Given the description of an element on the screen output the (x, y) to click on. 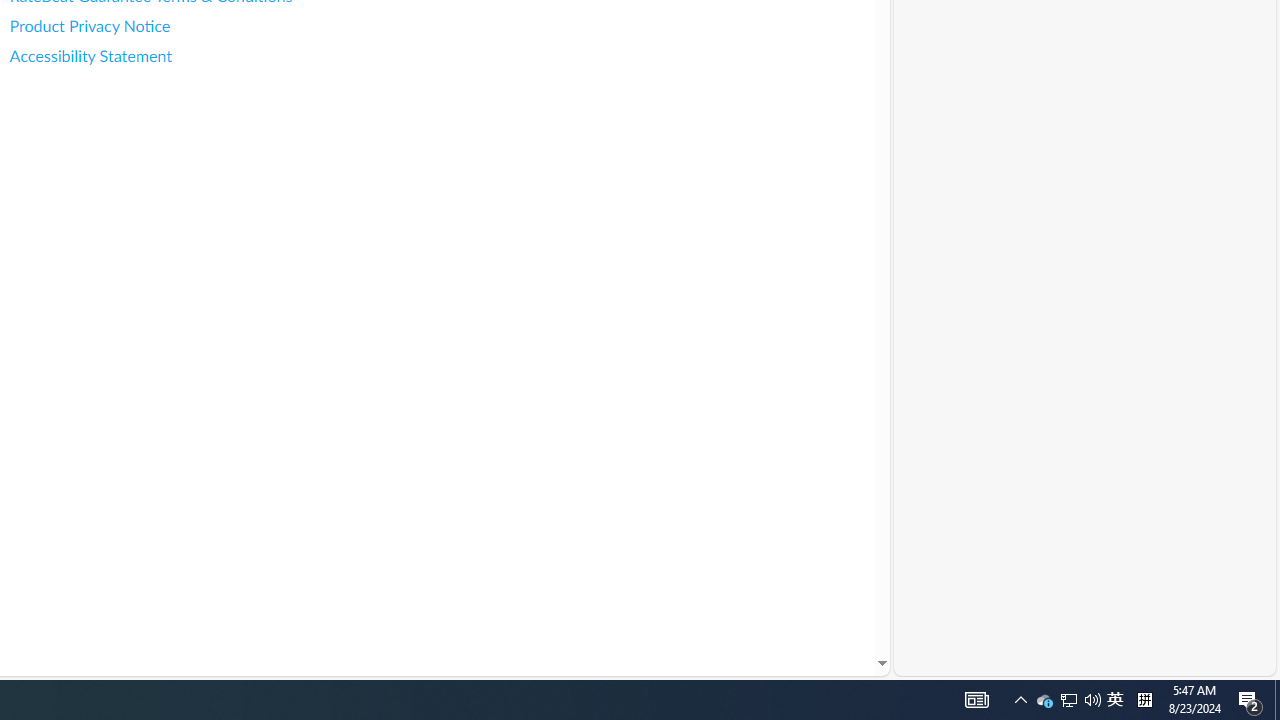
Accessibility Statement (188, 56)
Product Privacy Notice (188, 25)
